Given the description of an element on the screen output the (x, y) to click on. 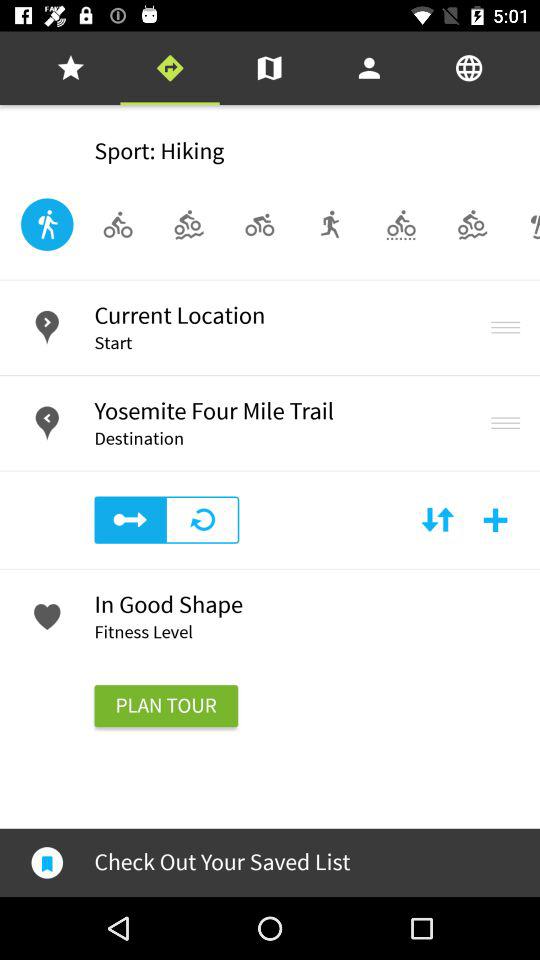
choose icon above the sport: hiking icon (70, 68)
